Given the description of an element on the screen output the (x, y) to click on. 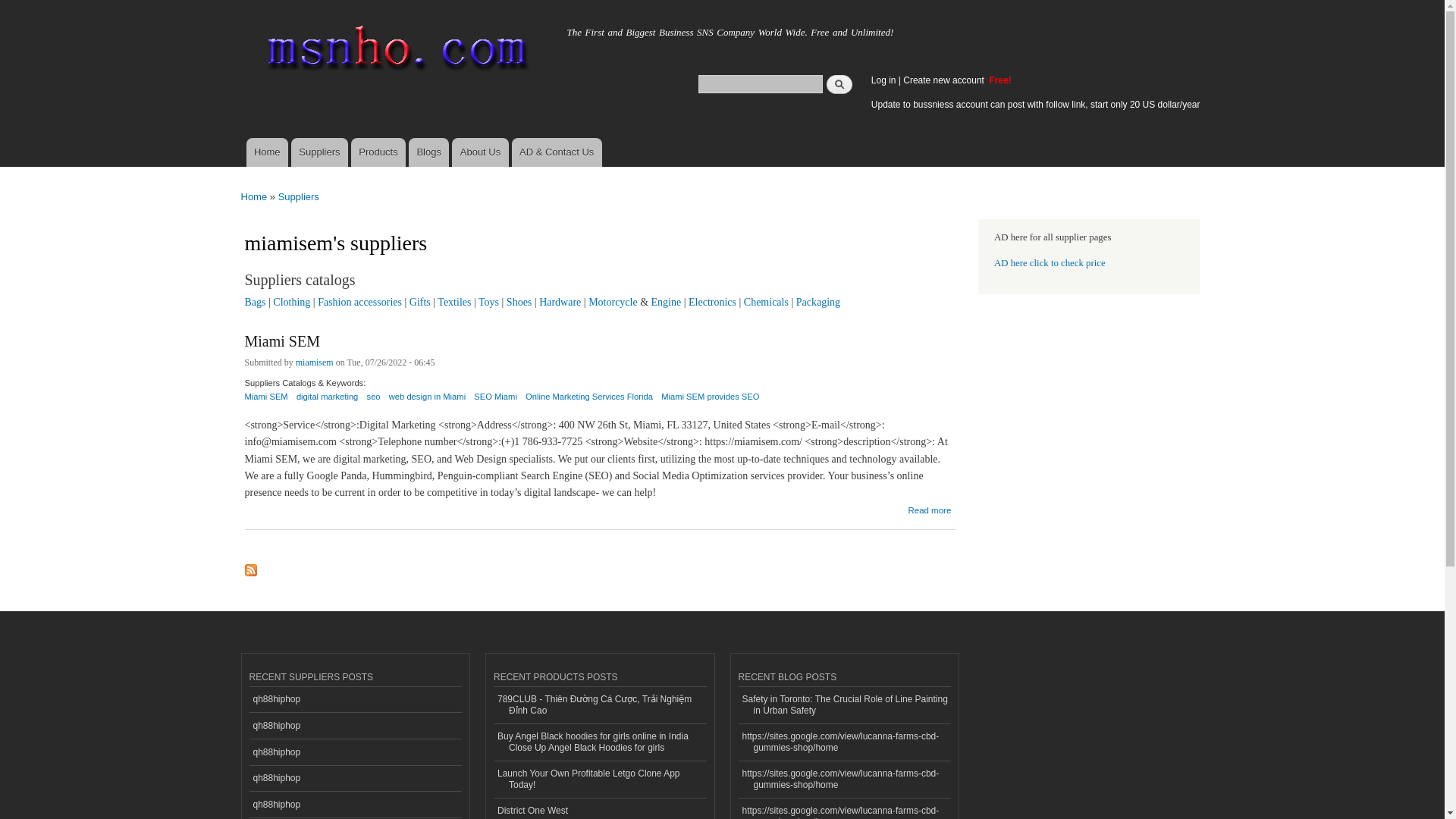
Suppliers (298, 196)
Home (266, 152)
Online Marketing Services Florida (588, 402)
Motorcycle (612, 301)
miamisem (314, 364)
Skip to main content (690, 1)
Search (839, 83)
About Us (479, 152)
Hardware (559, 301)
Electronics (712, 301)
